Given the description of an element on the screen output the (x, y) to click on. 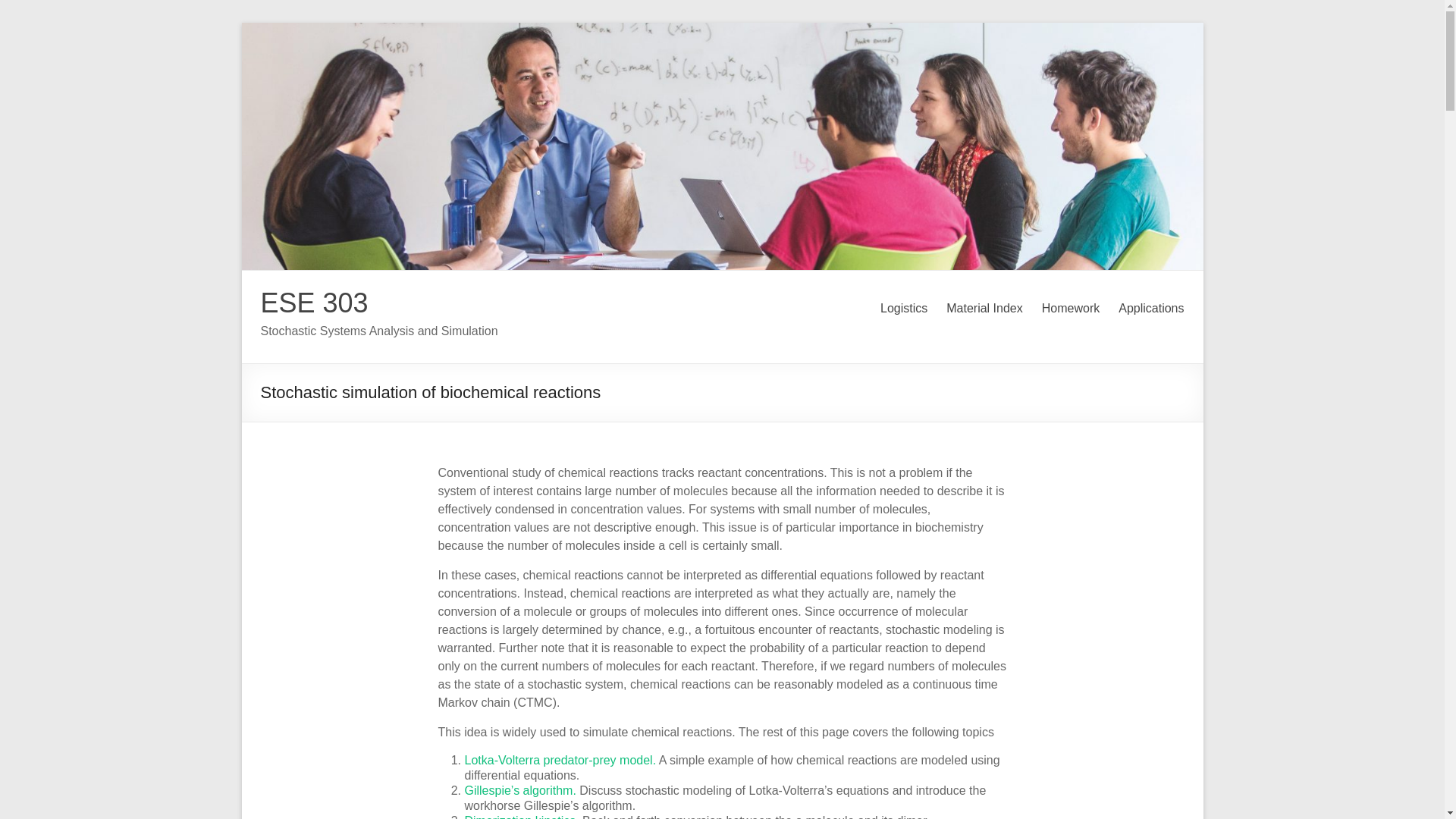
Dimerization kinetics. (521, 816)
Material Index (984, 308)
Lotka-Volterra predator-prey model. (560, 759)
ESE 303 (314, 302)
ESE 303 (314, 302)
Homework (1070, 308)
Applications (1150, 308)
Logistics (903, 308)
